Given the description of an element on the screen output the (x, y) to click on. 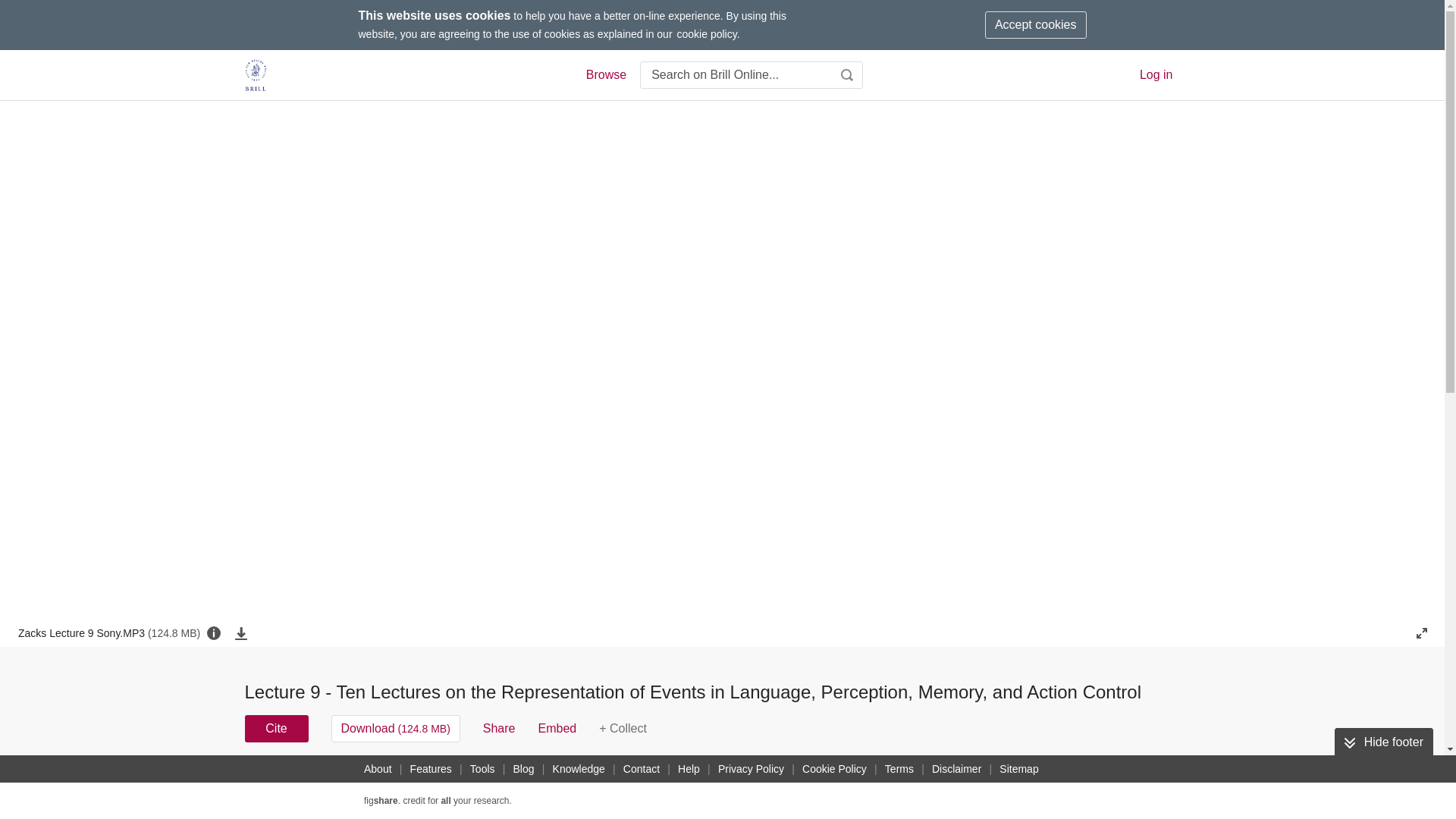
Log in (1156, 74)
Cite (275, 728)
Embed (557, 728)
USAGE METRICS (976, 782)
Share (499, 728)
Accept cookies (1035, 24)
Zacks Lecture 9 Sony.MP3 (108, 633)
Version 2 (273, 778)
you need to log in first (622, 728)
cookie policy (706, 33)
Browse (605, 75)
